Given the description of an element on the screen output the (x, y) to click on. 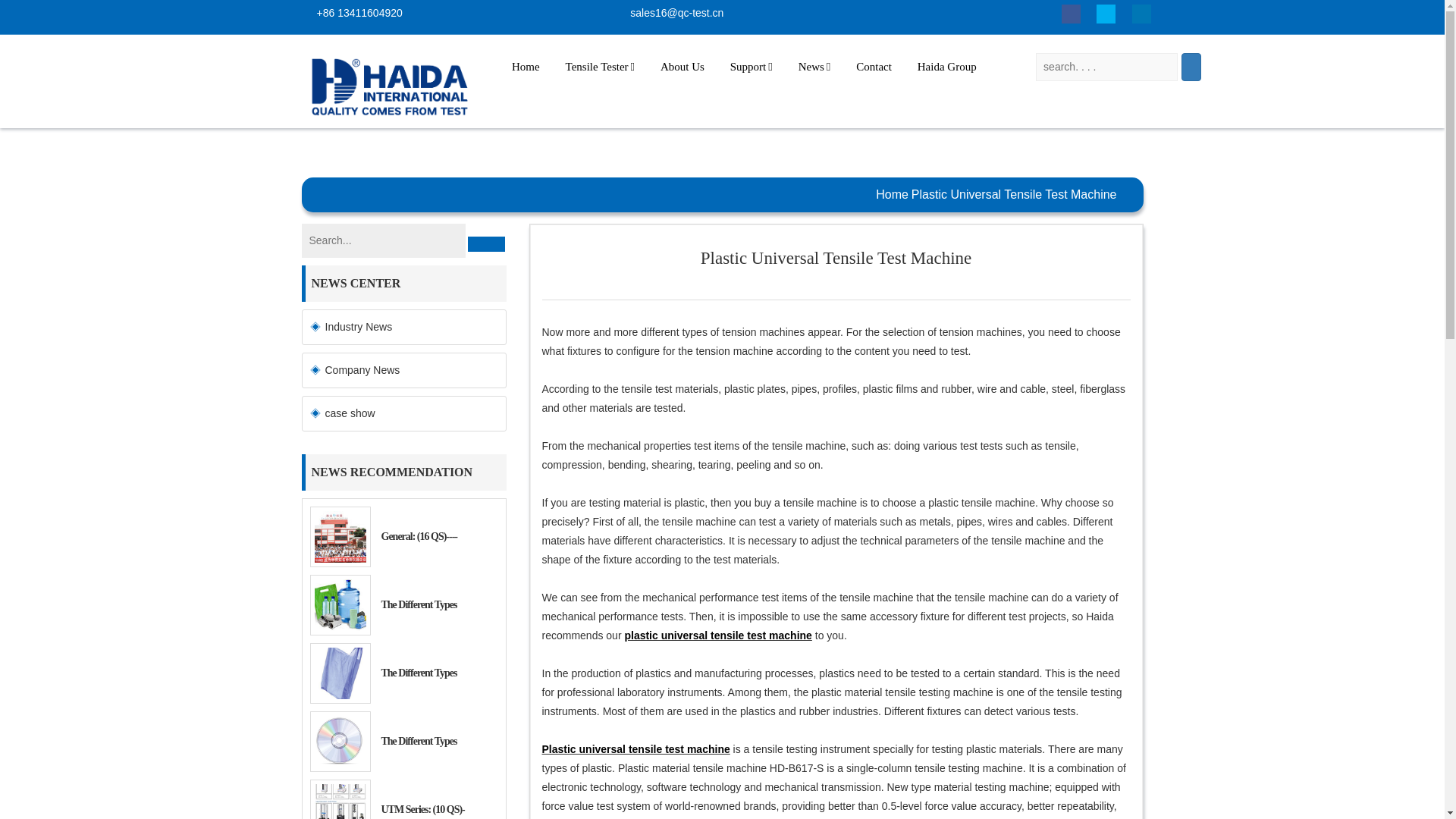
Home (526, 67)
News (814, 67)
Haida Group (946, 67)
Support (751, 67)
About Us (682, 67)
Tensile Tester (600, 67)
Contact (873, 67)
